Given the description of an element on the screen output the (x, y) to click on. 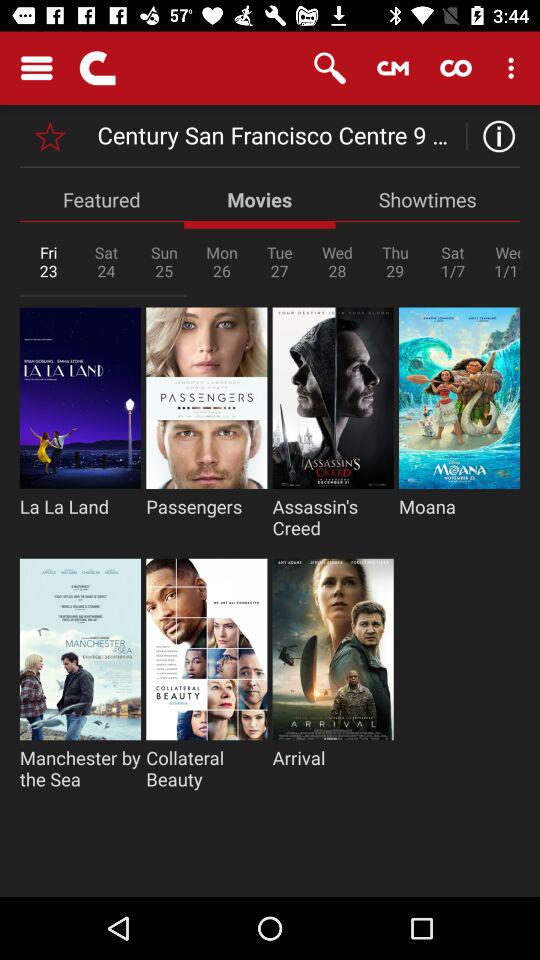
toggle current theater as favorite (49, 136)
